Given the description of an element on the screen output the (x, y) to click on. 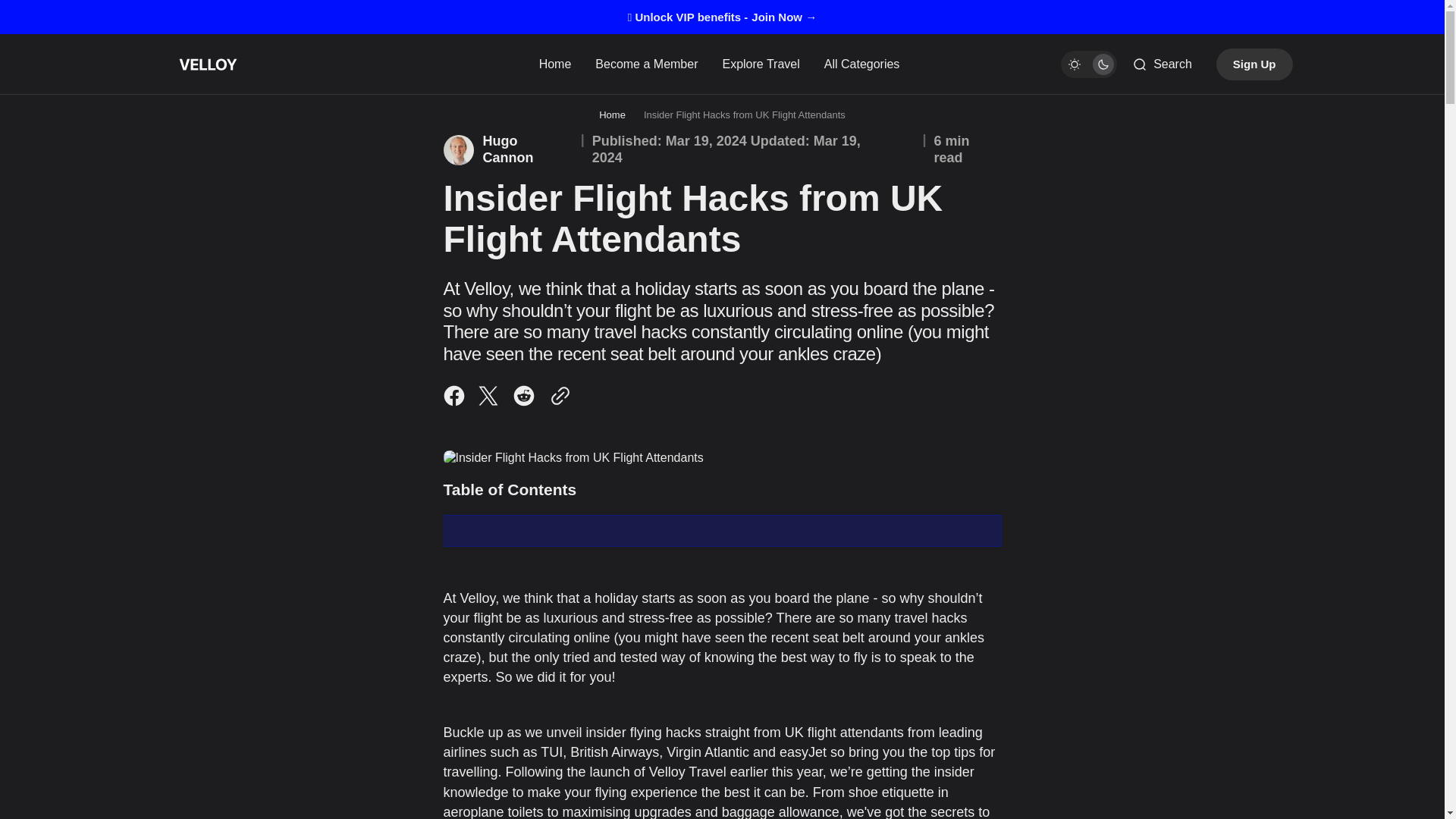
Home (612, 114)
Sign Up (1253, 64)
Hugo Cannon (506, 149)
Search button (1162, 64)
Become a Member (646, 63)
Insider Flight Hacks from UK Flight Attendants (744, 114)
Home (557, 63)
All Categories (862, 63)
Search (1162, 64)
Explore Travel (760, 63)
